Given the description of an element on the screen output the (x, y) to click on. 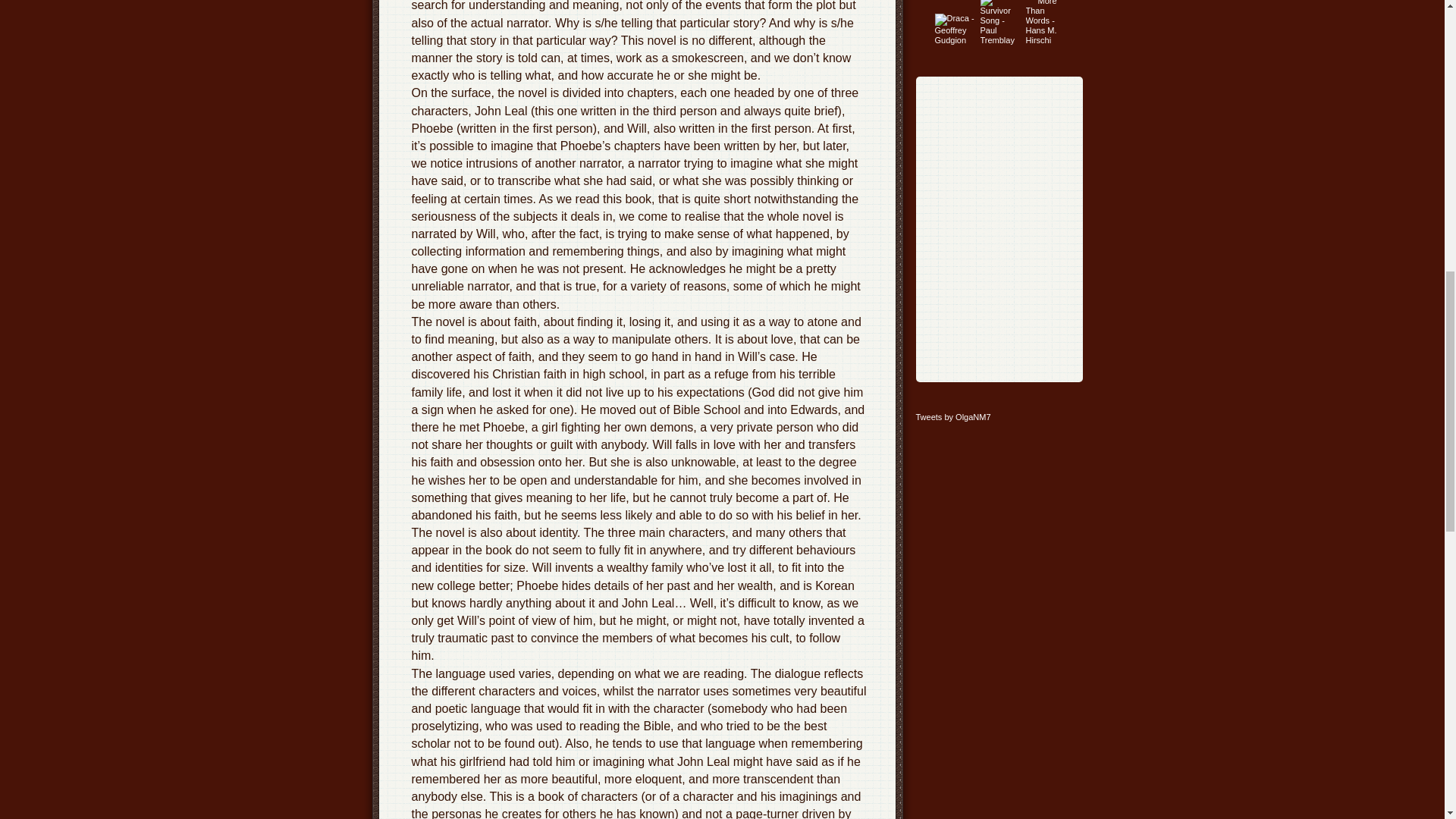
Tweets by OlgaNM7 (953, 416)
